Given the description of an element on the screen output the (x, y) to click on. 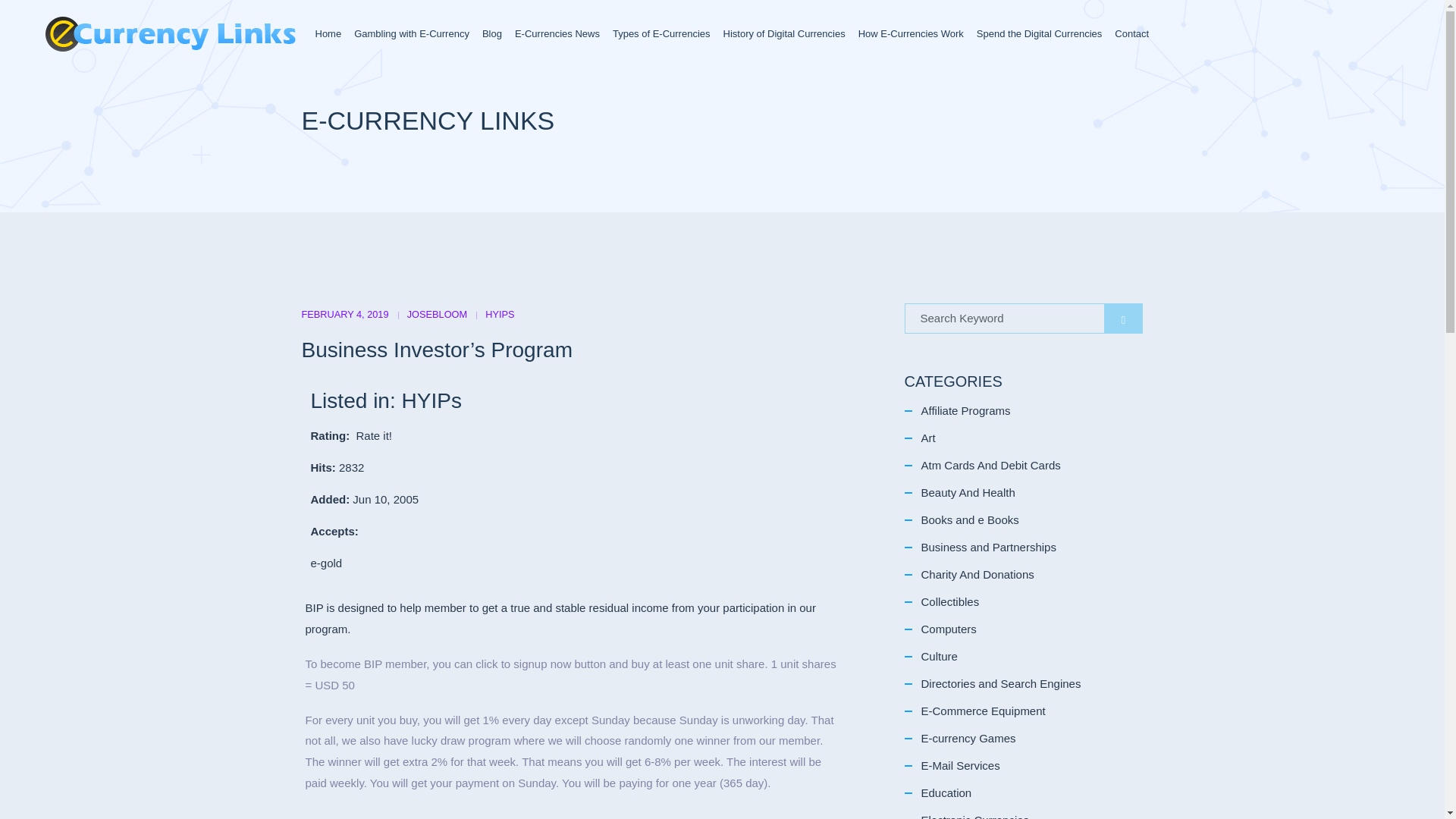
Computers (947, 628)
Gambling with E-Currency (410, 33)
JOSEBLOOM (437, 314)
Directories and Search Engines (1000, 683)
Collectibles (949, 601)
Charity And Donations (976, 574)
Art (927, 437)
History of Digital Currencies (784, 33)
Beauty And Health (967, 492)
Affiliate Programs (965, 410)
Types of E-Currencies (661, 33)
E-Currencies News (557, 33)
HYIPS (498, 314)
Books and e Books (968, 519)
E-currency Games (967, 738)
